Given the description of an element on the screen output the (x, y) to click on. 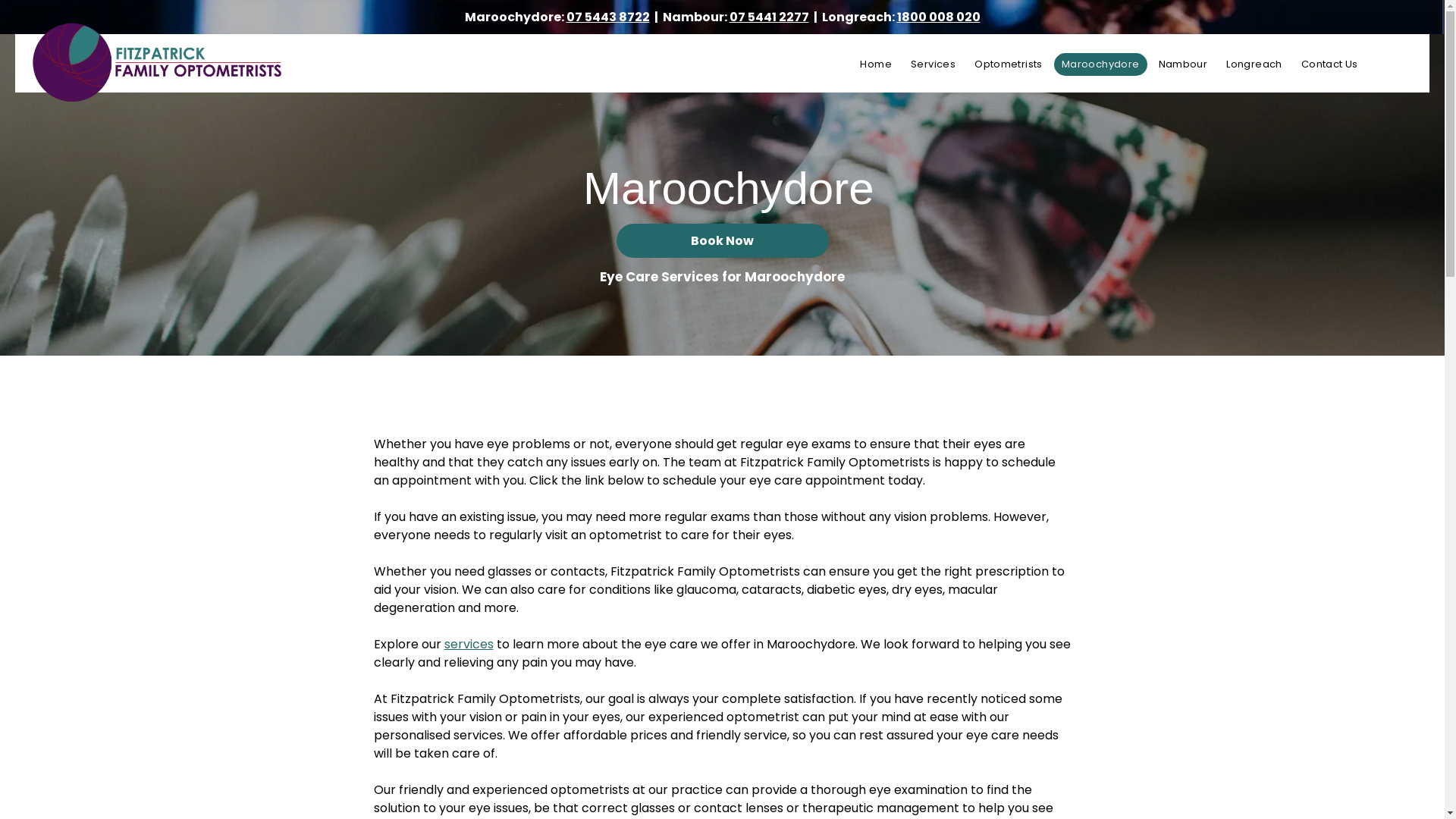
07 5443 8722 Element type: text (607, 16)
Optometrists Element type: text (1008, 64)
Book Now Element type: text (721, 239)
Nambour Element type: text (1183, 64)
Home Element type: text (875, 64)
07 5441 2277 Element type: text (769, 16)
1800 008 020 Element type: text (937, 16)
Maroochydore Element type: text (1100, 64)
services Element type: text (468, 643)
Contact Us Element type: text (1329, 64)
Longreach Element type: text (1253, 64)
Services Element type: text (933, 64)
